Given the description of an element on the screen output the (x, y) to click on. 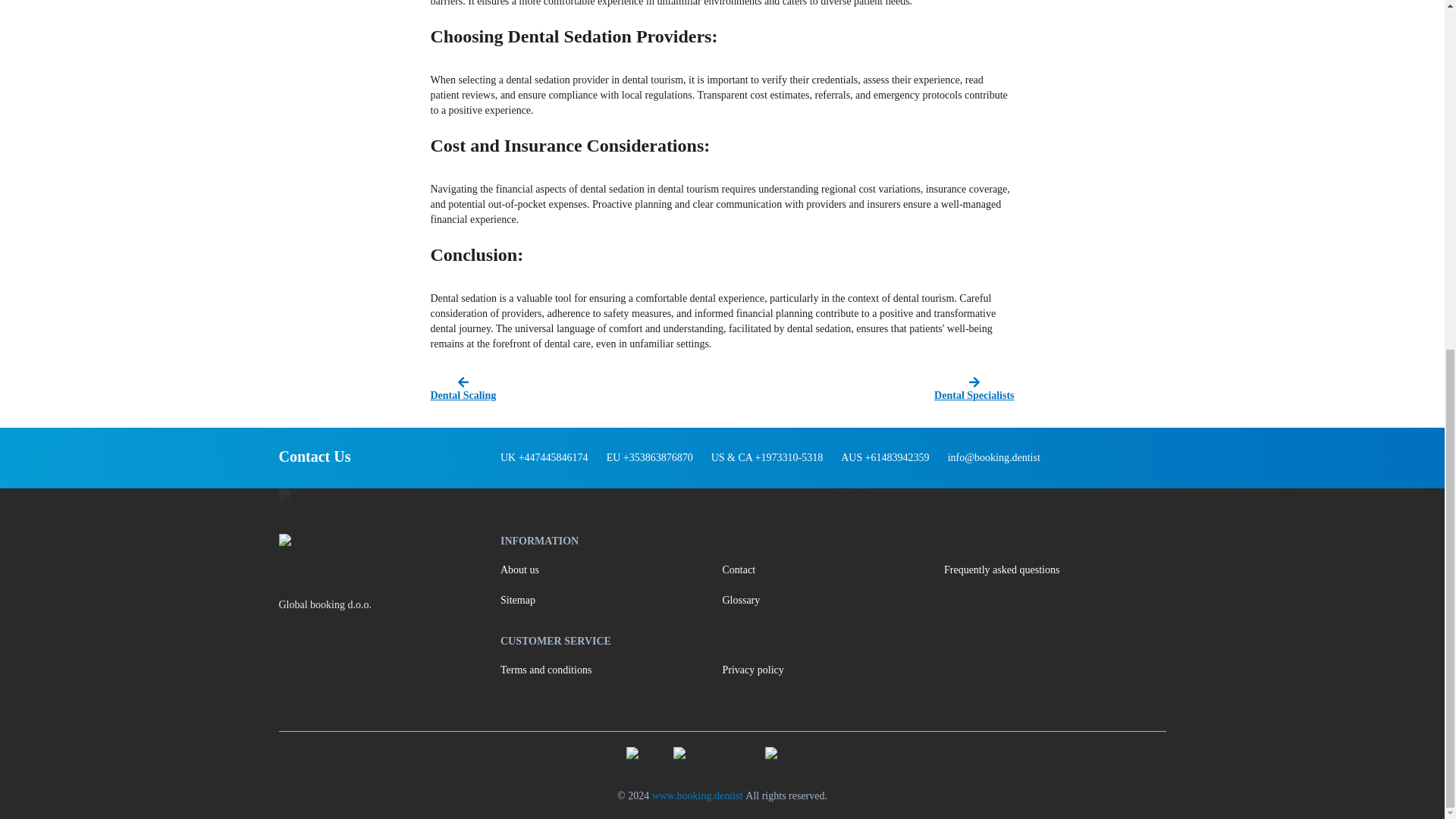
Terms and conditions (611, 670)
Glossary (832, 600)
About us (611, 570)
Dental Scaling (573, 389)
Dental Specialists (869, 389)
Frequently asked questions (1054, 570)
www.booking.dentist (697, 795)
Sitemap (611, 600)
Contact (832, 570)
Privacy policy (832, 670)
